Given the description of an element on the screen output the (x, y) to click on. 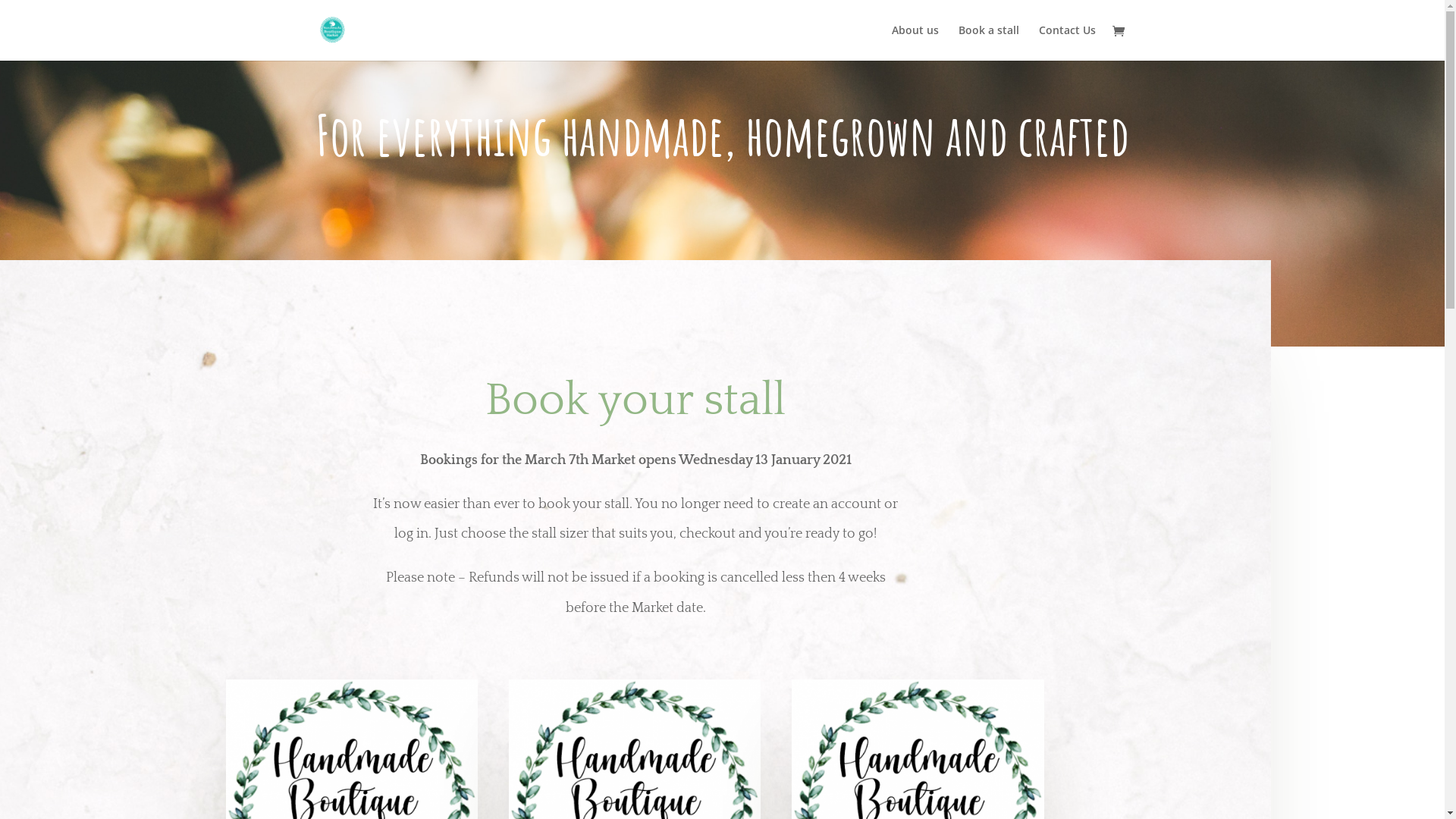
Book a stall Element type: text (988, 42)
Contact Us Element type: text (1066, 42)
About us Element type: text (914, 42)
